Given the description of an element on the screen output the (x, y) to click on. 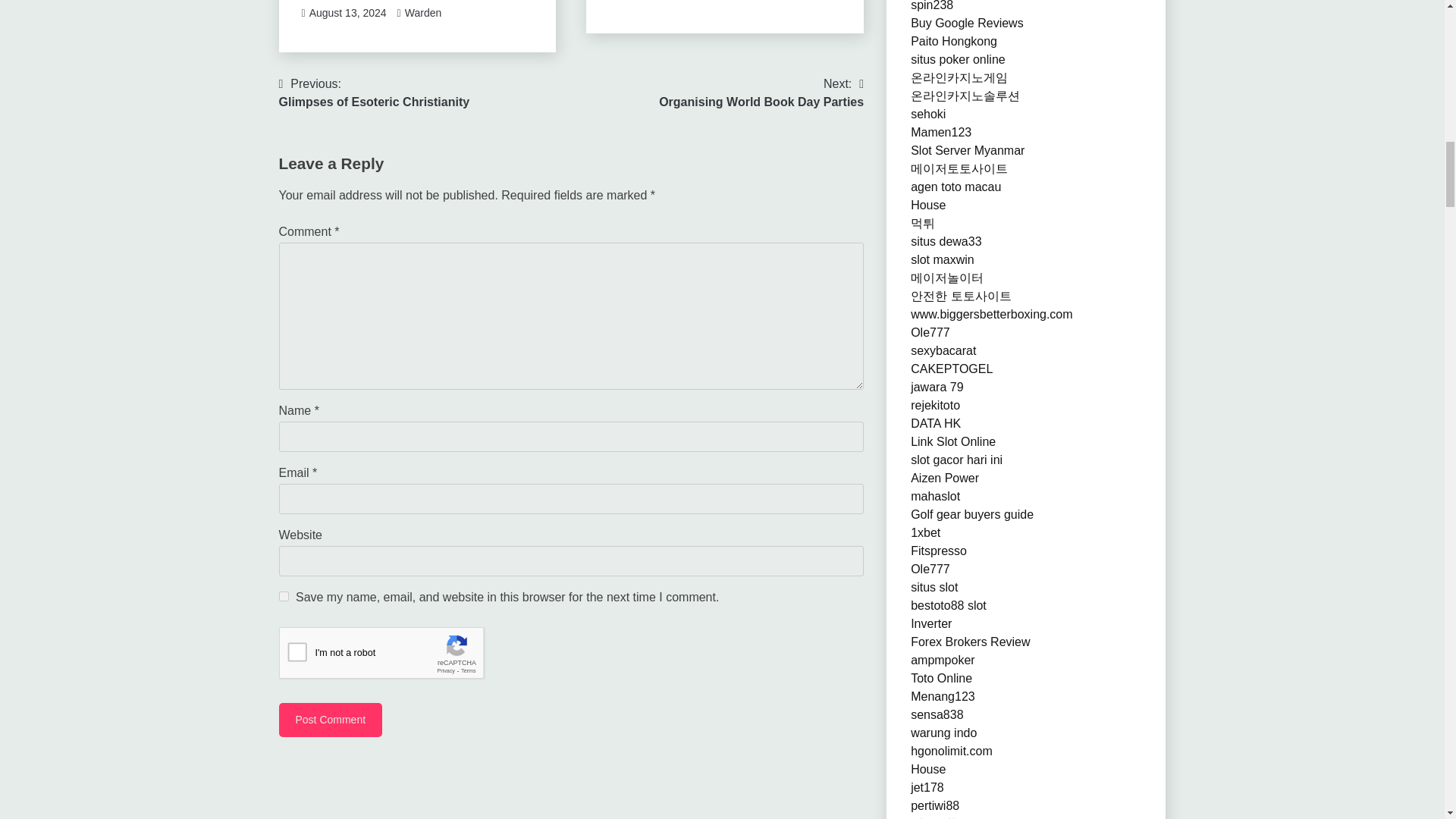
yes (283, 596)
Warden (423, 12)
August 13, 2024 (347, 12)
Post Comment (330, 719)
reCAPTCHA (374, 93)
1xbet (394, 656)
Post Comment (761, 93)
